Given the description of an element on the screen output the (x, y) to click on. 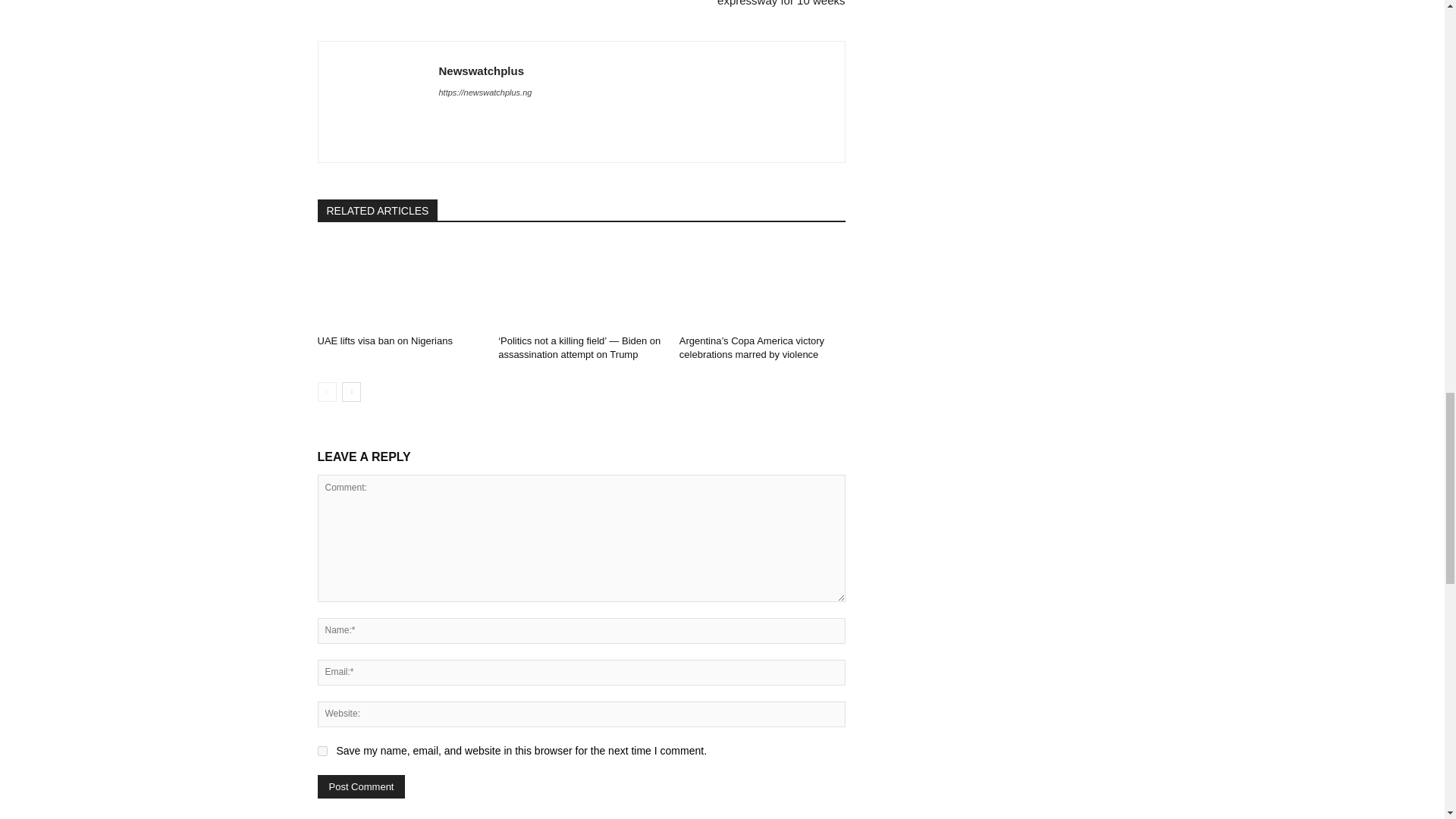
Newswatchplus (377, 101)
Post Comment (360, 786)
yes (321, 750)
